Given the description of an element on the screen output the (x, y) to click on. 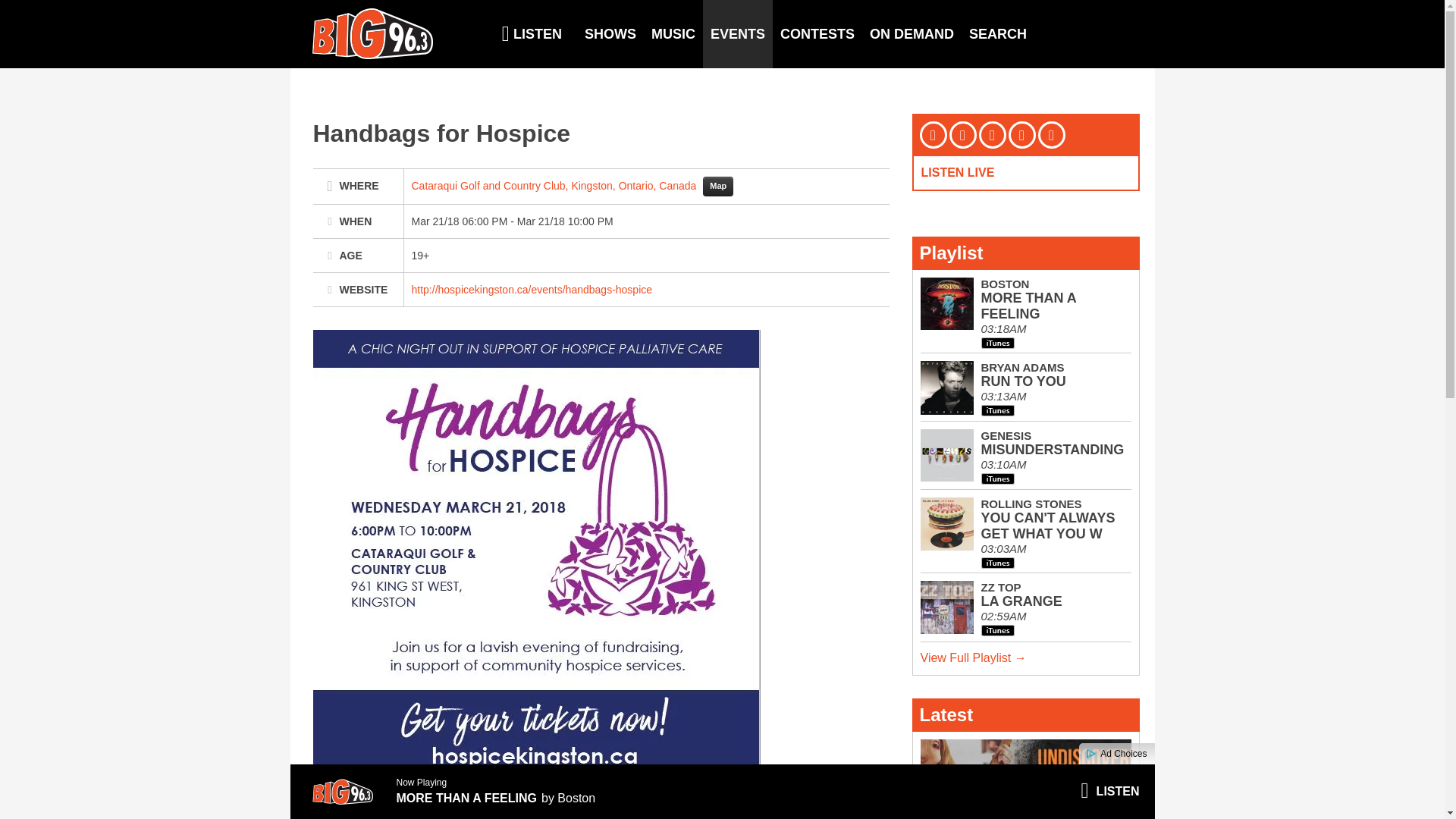
EVENTS (738, 33)
SHOWS (609, 33)
ON DEMAND (910, 33)
LISTEN (531, 33)
CONTESTS (817, 33)
Map (718, 186)
SEARCH (996, 33)
Listen live (1109, 791)
Cataraqui Golf and Country Club, Kingston, Ontario, Canada (554, 185)
